Given the description of an element on the screen output the (x, y) to click on. 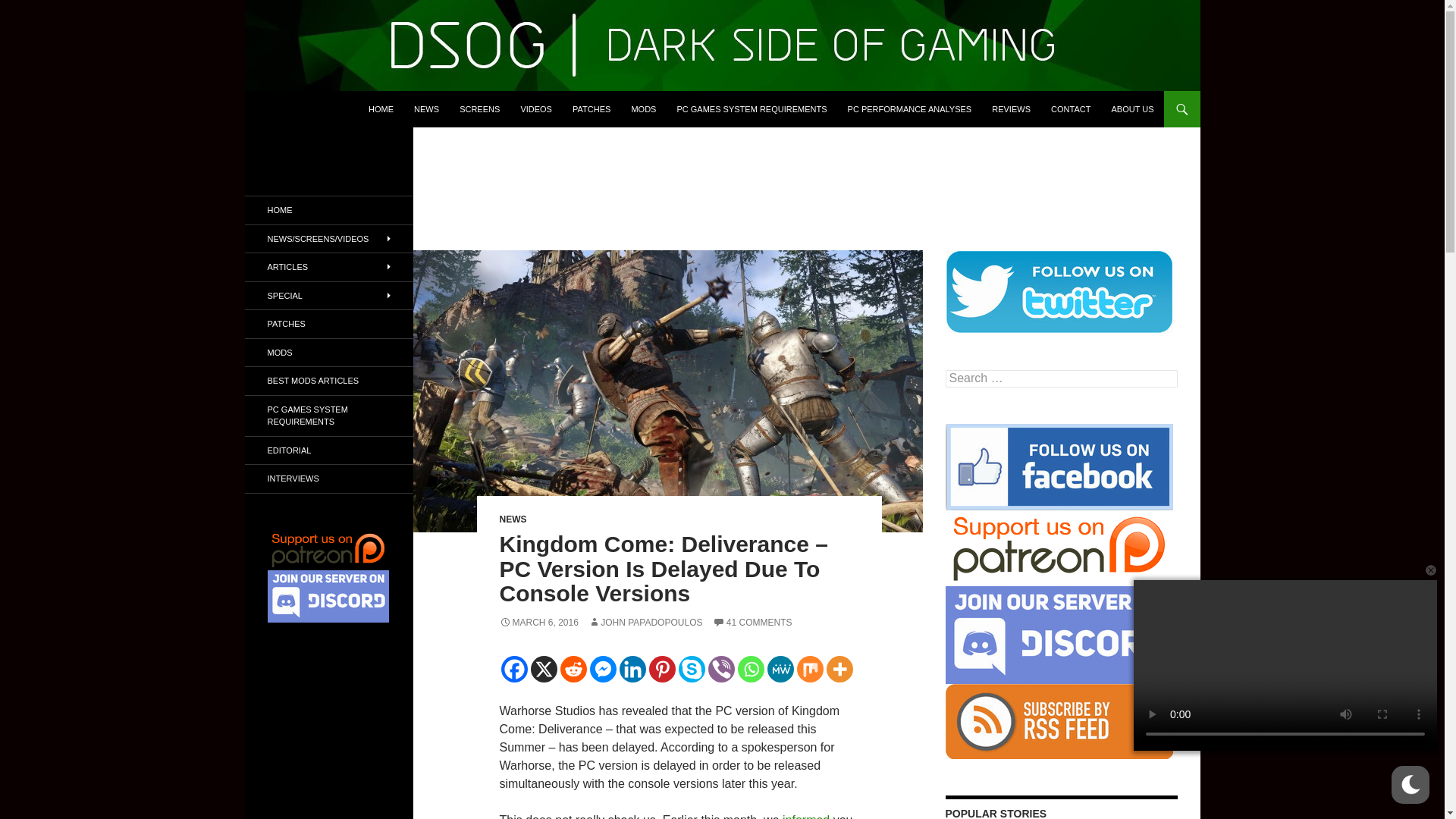
Reddit (572, 669)
CONTACT (1070, 108)
Mix (809, 669)
informed (806, 816)
41 COMMENTS (752, 622)
PC PERFORMANCE ANALYSES (909, 108)
PATCHES (591, 108)
Skype (691, 669)
PC GAMES SYSTEM REQUIREMENTS (750, 108)
MARCH 6, 2016 (538, 622)
Facebook (513, 669)
More (840, 669)
REVIEWS (1010, 108)
